Given the description of an element on the screen output the (x, y) to click on. 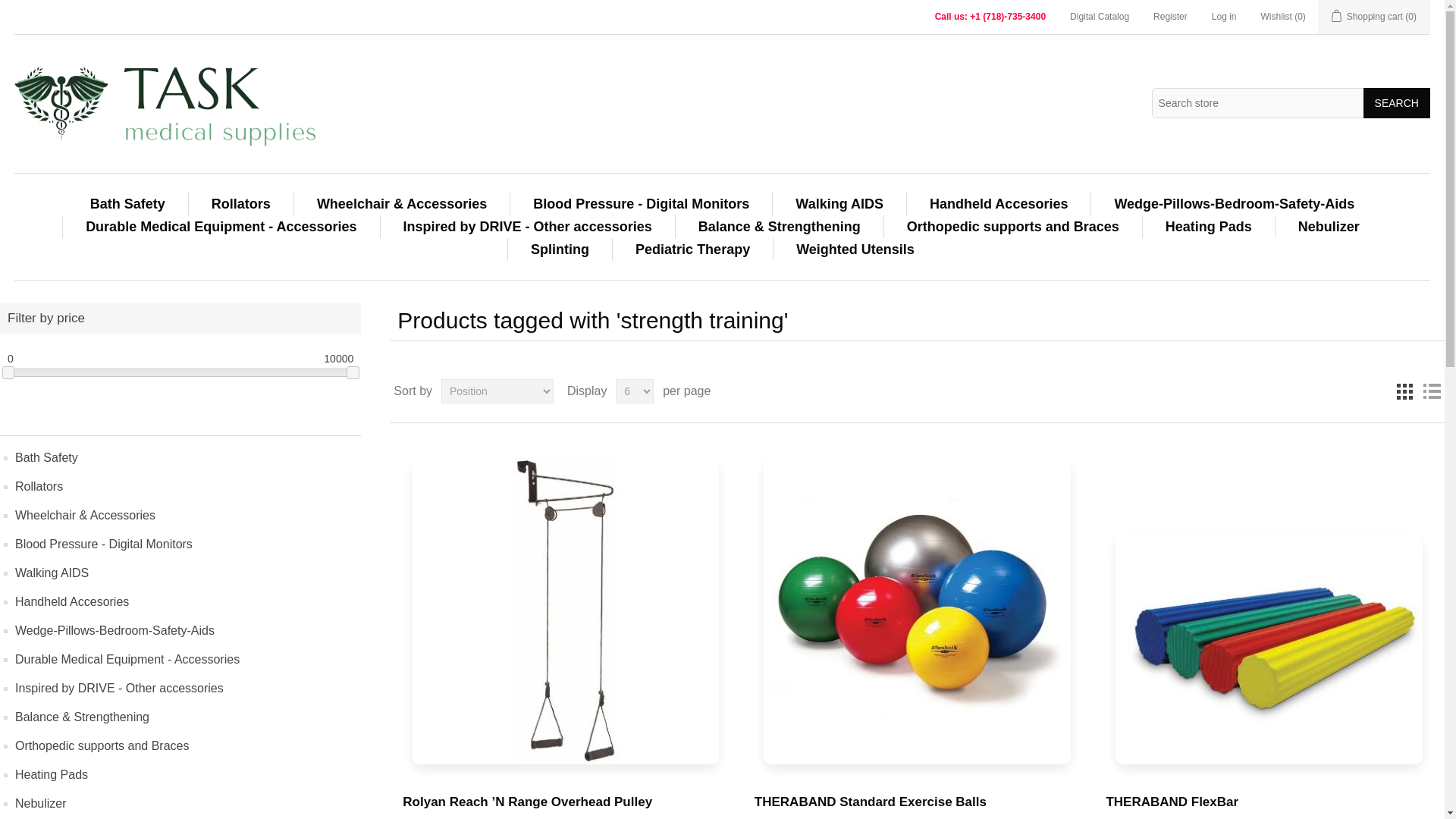
SEARCH (1395, 102)
Show details for THERABAND FlexBar (1268, 608)
Walking AIDS (839, 203)
Heating Pads (1208, 226)
Bath Safety (127, 203)
Digital Catalog (1099, 17)
Handheld Accesories (998, 203)
Blood Pressure - Digital Monitors (641, 203)
Nebulizer (1328, 226)
Durable Medical Equipment - Accessories (221, 226)
Weighted Utensils (855, 249)
Register (1170, 17)
Pediatric Therapy (692, 249)
Show details for THERABAND Standard Exercise Balls (916, 610)
Splinting (559, 249)
